Given the description of an element on the screen output the (x, y) to click on. 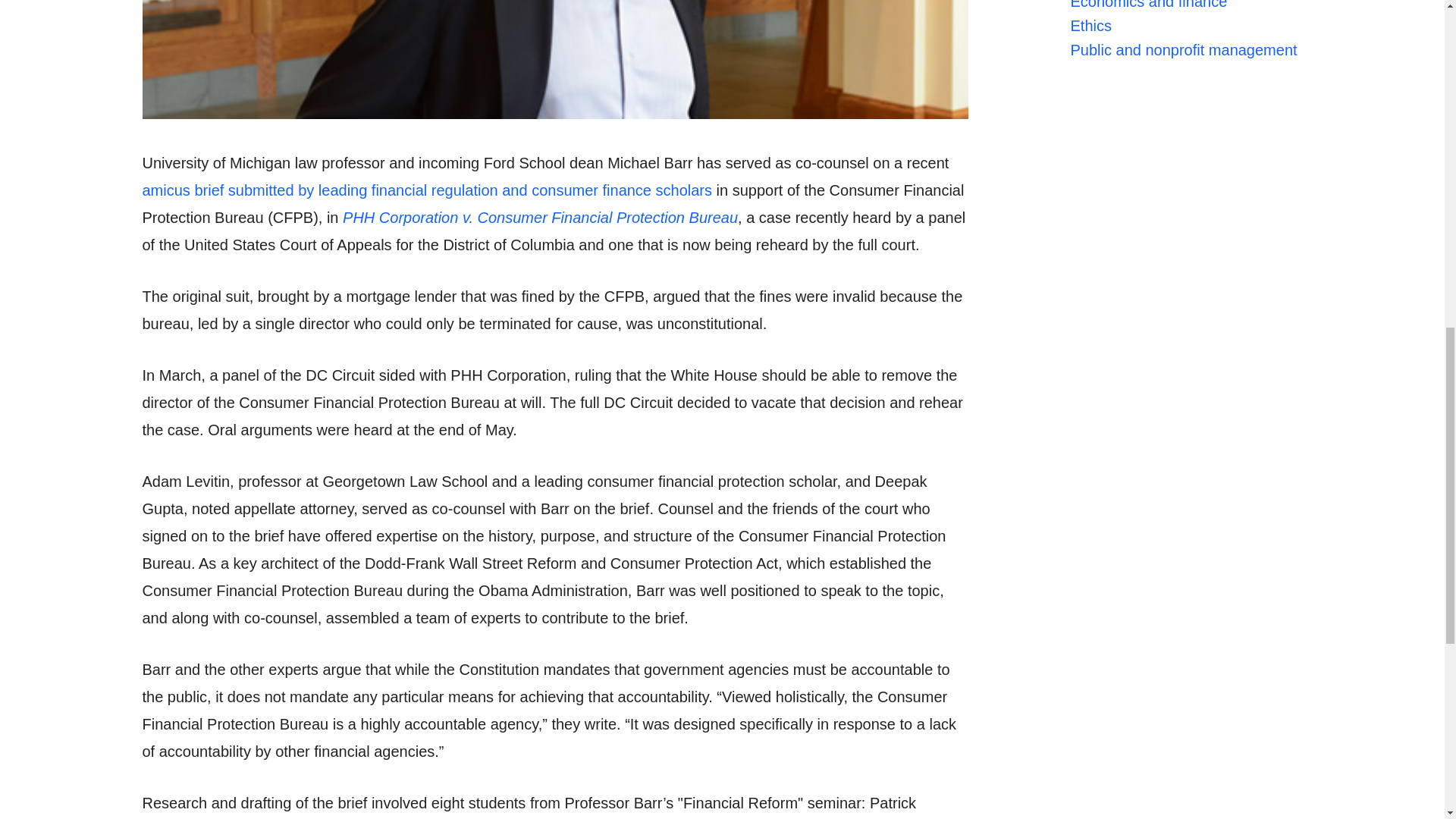
Ethics (1091, 69)
Domestic policy (1123, 22)
Public and nonprofit management (1183, 93)
Economics and finance (1148, 45)
